Given the description of an element on the screen output the (x, y) to click on. 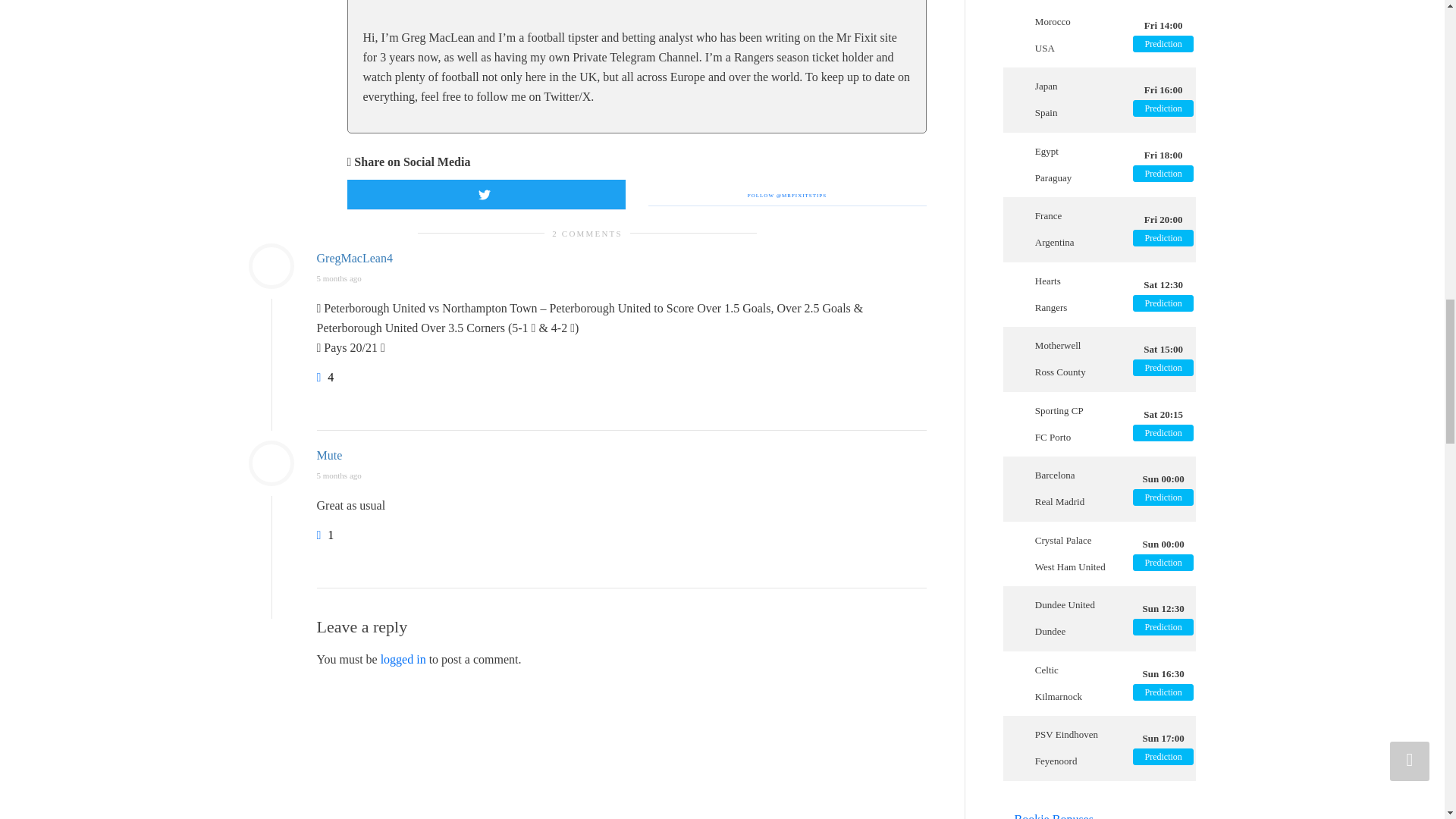
logged in (403, 658)
